Given the description of an element on the screen output the (x, y) to click on. 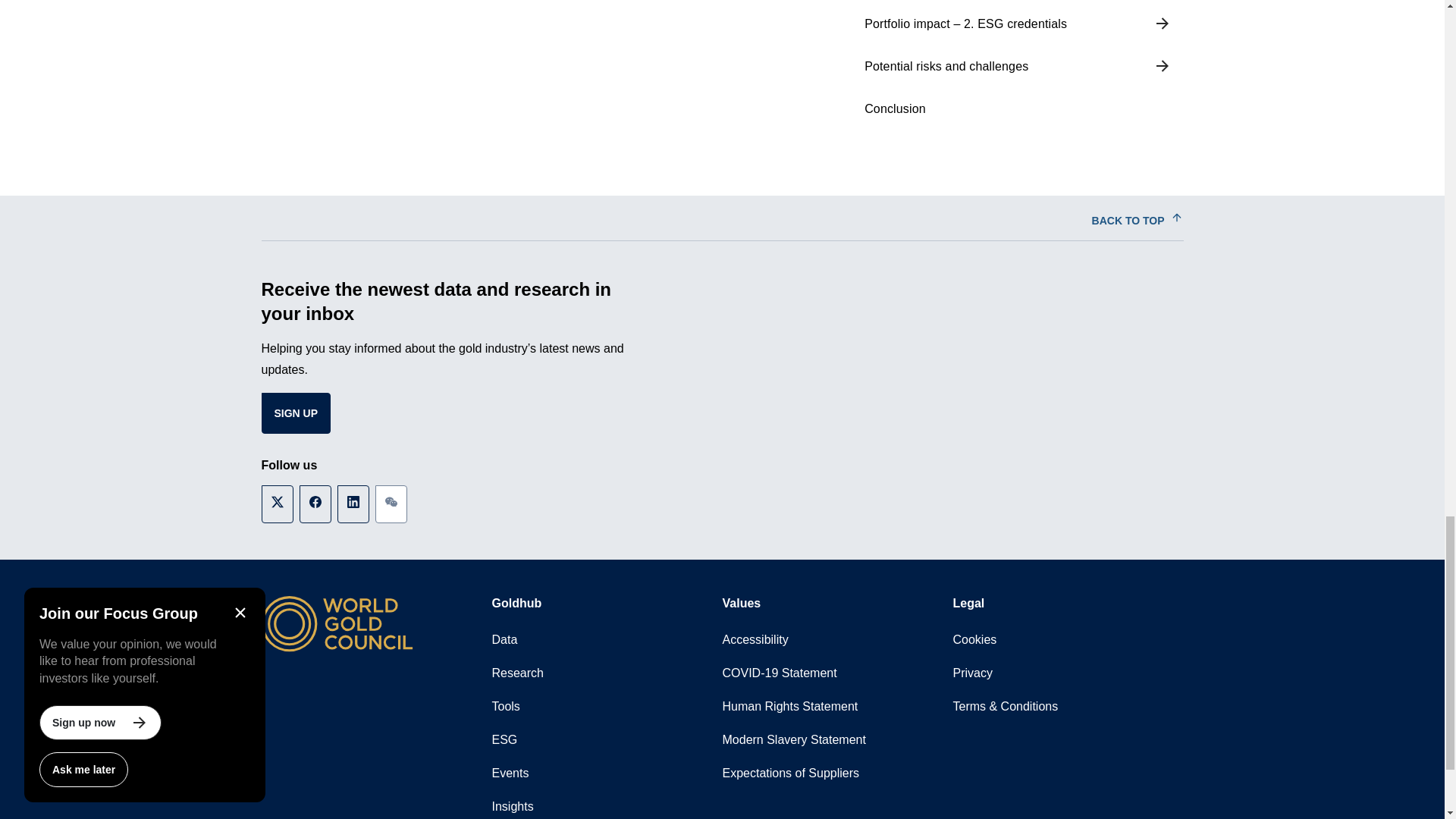
Potential risks and challenges (1018, 66)
ESG (607, 739)
Modern slavery statement (837, 739)
Conclusion (1018, 108)
Accessibility (837, 639)
Social commentary about gold (607, 804)
Cookies (1067, 639)
Events (607, 773)
